Given the description of an element on the screen output the (x, y) to click on. 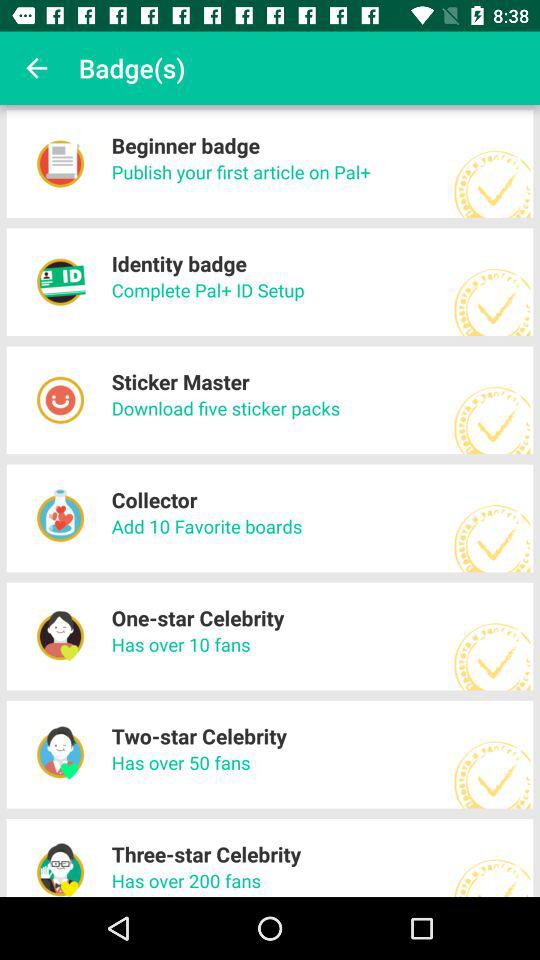
tap icon to the left of the badge(s) item (36, 68)
